Given the description of an element on the screen output the (x, y) to click on. 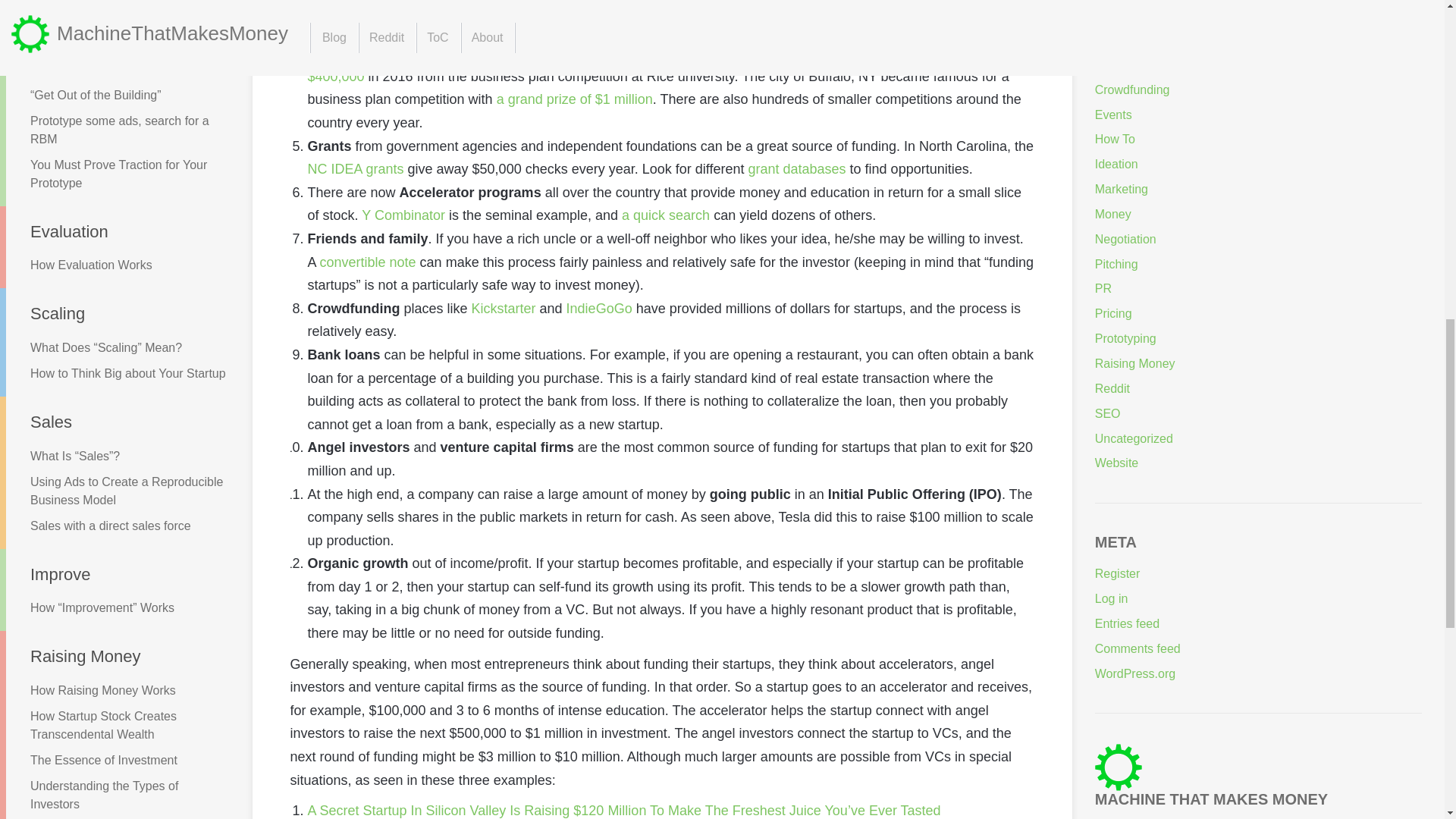
Prototype some ads, search for a RBM (116, 130)
You Must Prove Traction for Your Prototype (116, 174)
Sales with a direct sales force (116, 525)
How Raising Money Works (116, 690)
How to Think Big about Your Startup (116, 373)
How Evaluation Works (116, 265)
Using Ads to Create a Reproducible Business Model (116, 491)
